Given the description of an element on the screen output the (x, y) to click on. 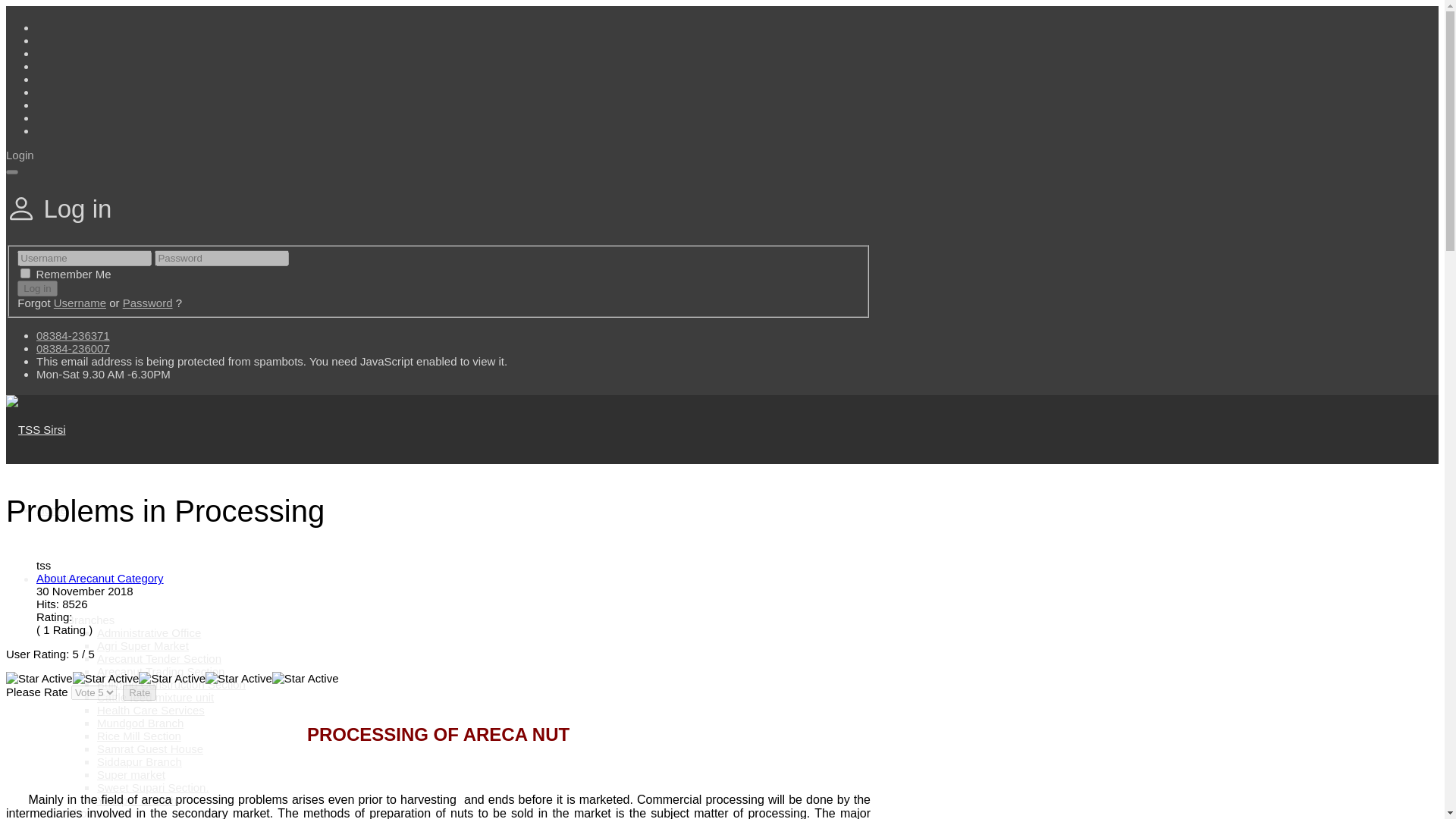
Building Construction Section (171, 684)
Branches (90, 619)
Agri Super Market (143, 645)
Username (79, 302)
Written by  (43, 564)
Password (147, 302)
Arecanut Trading Section (160, 671)
08384-236007 (73, 348)
ABOUT US (65, 578)
Article Category (99, 577)
